Given the description of an element on the screen output the (x, y) to click on. 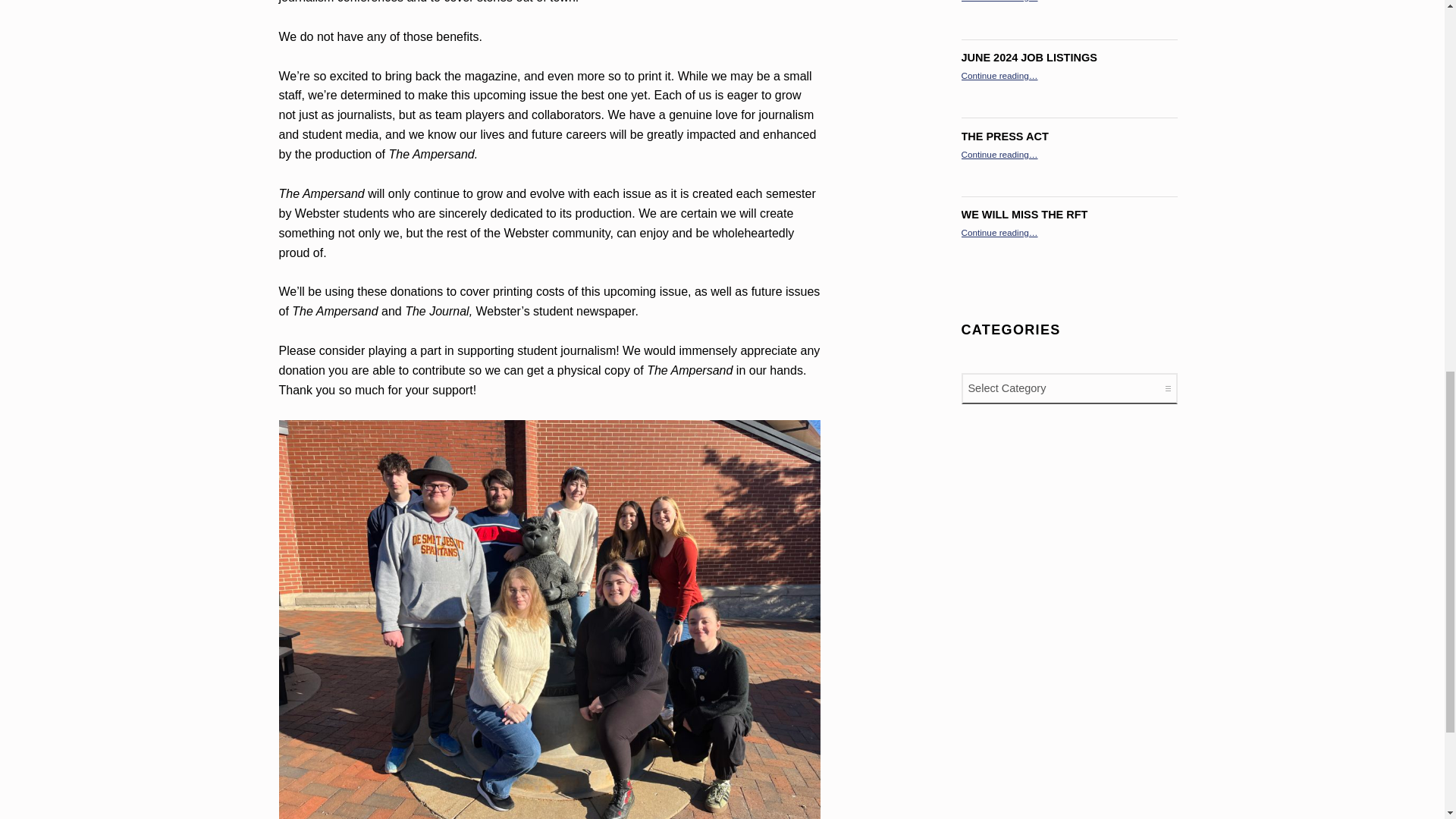
WE WILL MISS THE RFT (1023, 214)
JUNE 2024 JOB LISTINGS (1028, 57)
THE PRESS ACT (1004, 136)
